Given the description of an element on the screen output the (x, y) to click on. 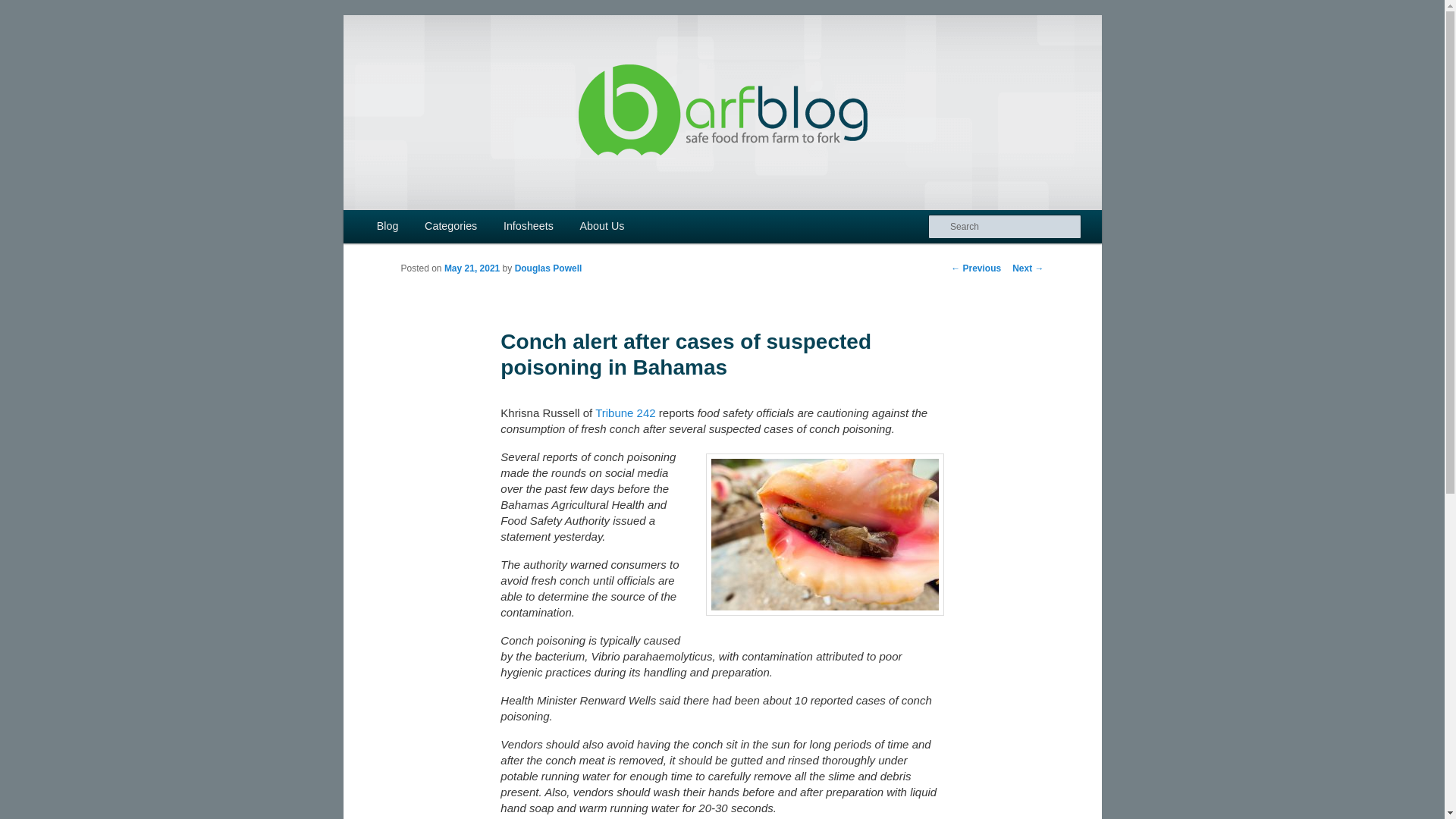
Skip to secondary content (421, 227)
Skip to secondary content (421, 227)
barfblog (446, 69)
Categories (451, 225)
Skip to primary content (414, 227)
About Us (601, 225)
Search (24, 8)
Skip to primary content (414, 227)
View all posts by Douglas Powell (548, 267)
1:02 am (471, 267)
Douglas Powell (548, 267)
Blog (388, 225)
barfblog (446, 69)
Tribune 242 (623, 412)
May 21, 2021 (471, 267)
